Given the description of an element on the screen output the (x, y) to click on. 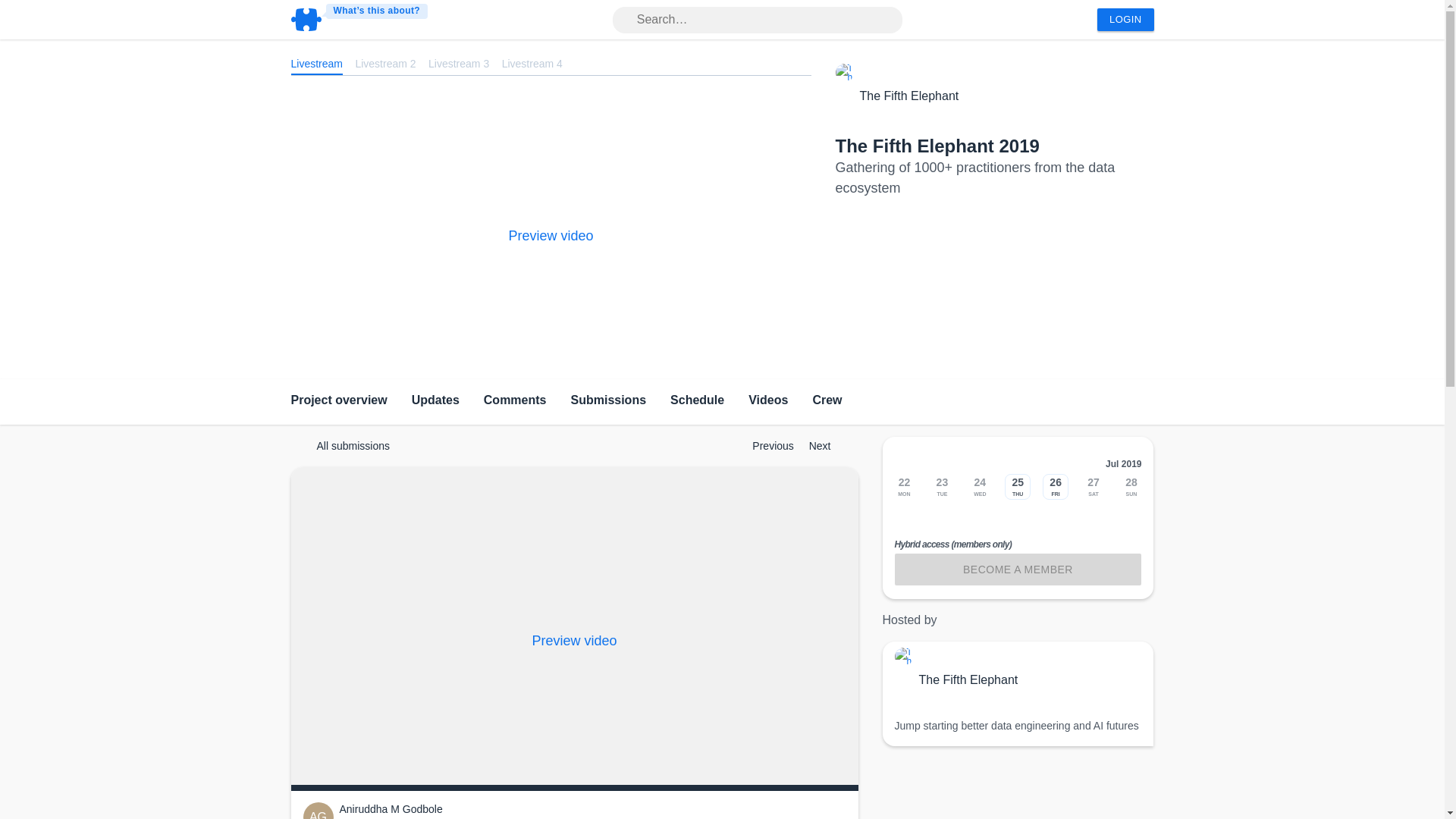
Project overview (339, 402)
Livestream 4 (532, 62)
Livestream 2 (384, 62)
Livestream 3 (458, 62)
Livestream (316, 62)
The Fifth Elephant 2019 (937, 145)
Schedule (696, 402)
The Fifth Elephant (909, 95)
Preview video (550, 235)
LOGIN (1125, 19)
